Given the description of an element on the screen output the (x, y) to click on. 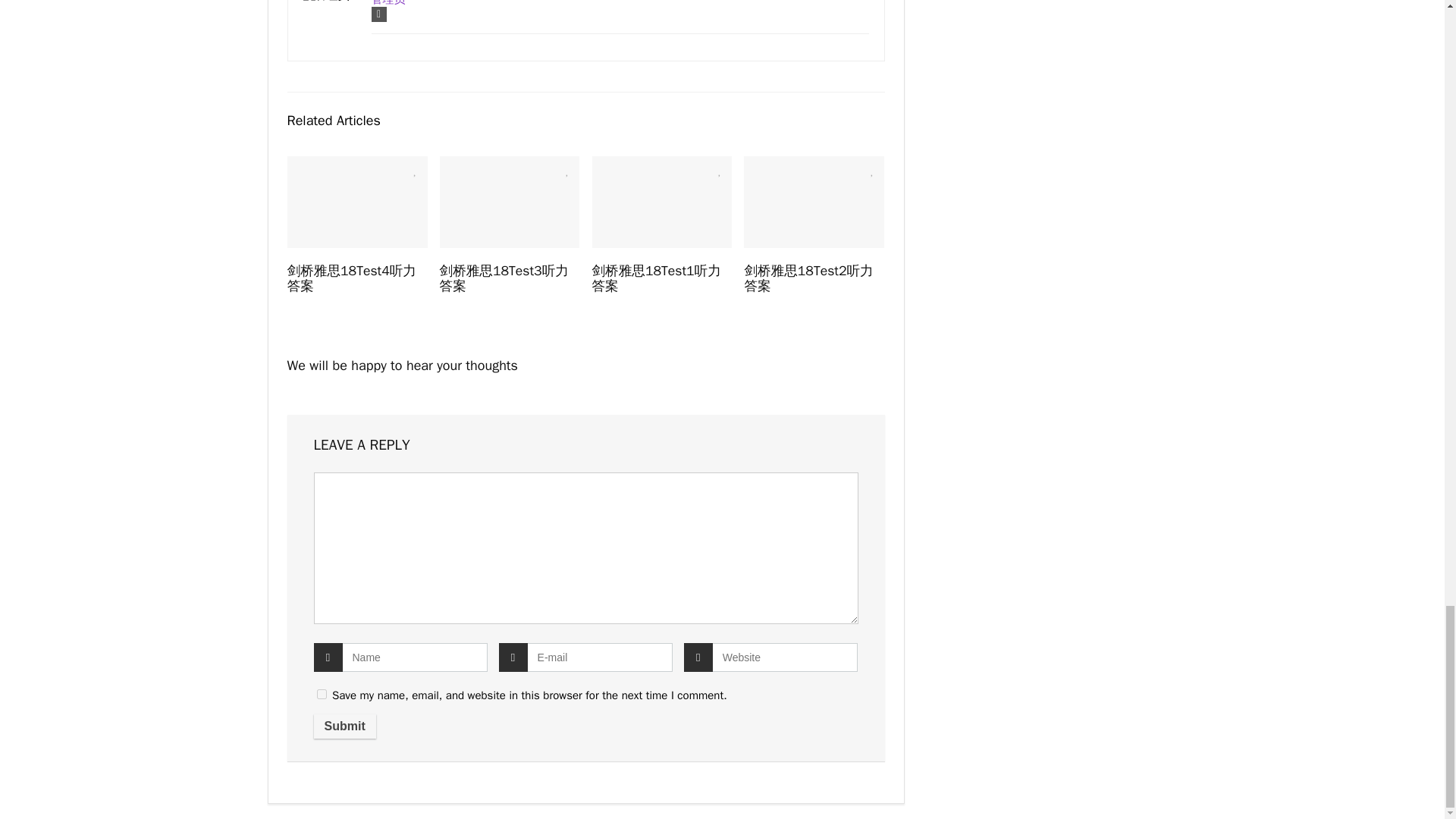
yes (321, 694)
Submit (344, 726)
